Given the description of an element on the screen output the (x, y) to click on. 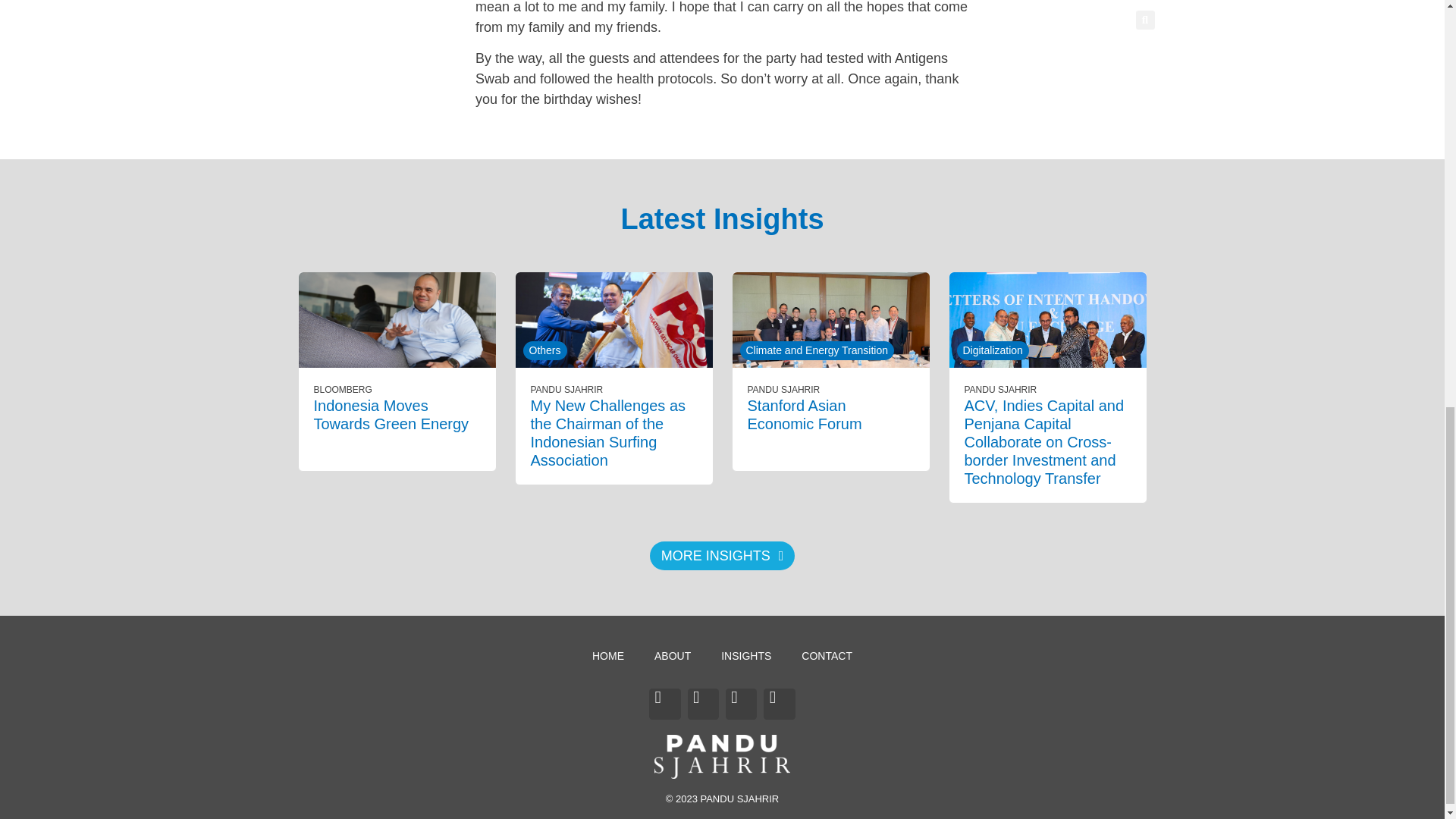
CONTACT (826, 655)
Digitalization (992, 349)
Climate and Energy Transition (816, 349)
Others (544, 349)
ABOUT (672, 655)
Indonesia Moves Towards Green Energy (391, 414)
INSIGHTS (746, 655)
Latest Insights (722, 219)
Stanford Asian Economic Forum (804, 414)
HOME (607, 655)
MORE INSIGHTS (721, 555)
